Given the description of an element on the screen output the (x, y) to click on. 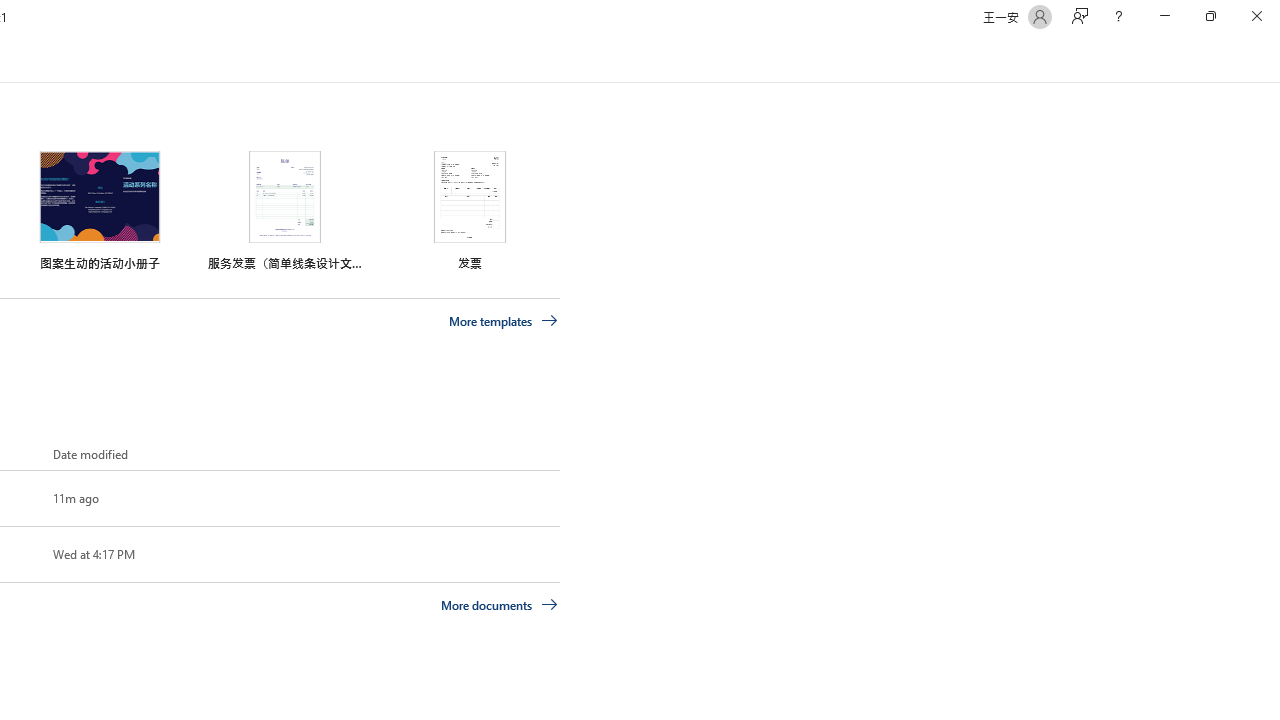
Class: NetUIScrollBar (1271, 59)
More templates (503, 321)
More documents (499, 604)
Pin this item to the list (20, 553)
